Given the description of an element on the screen output the (x, y) to click on. 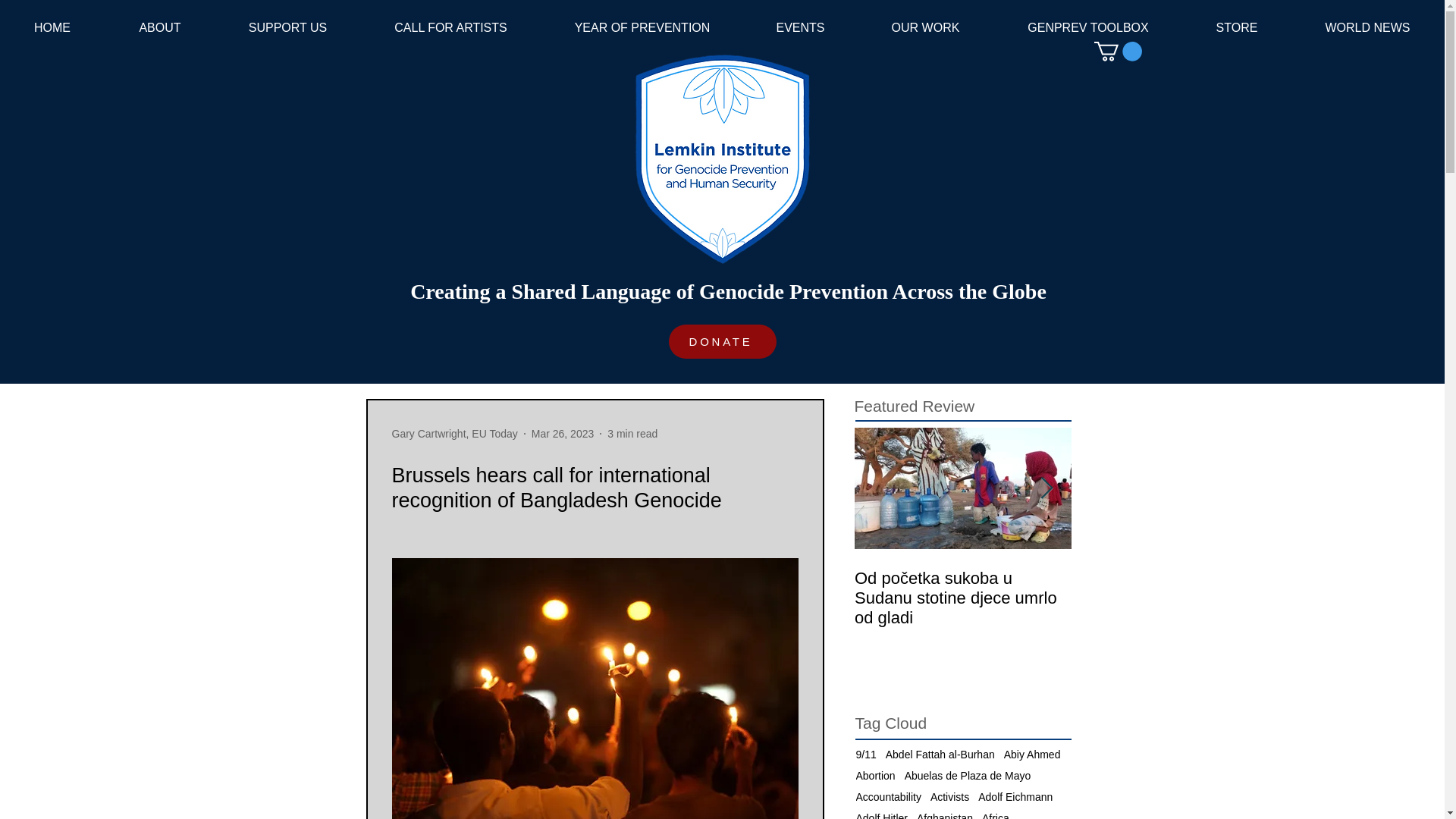
DONATE (722, 341)
Mar 26, 2023 (562, 433)
STORE (1236, 27)
YEAR OF PREVENTION (641, 27)
SUPPORT US (287, 27)
Gary Cartwright, EU Today (453, 433)
Gary Cartwright, EU Today (453, 433)
3 min read (632, 433)
EVENTS (799, 27)
HOME (52, 27)
